Given the description of an element on the screen output the (x, y) to click on. 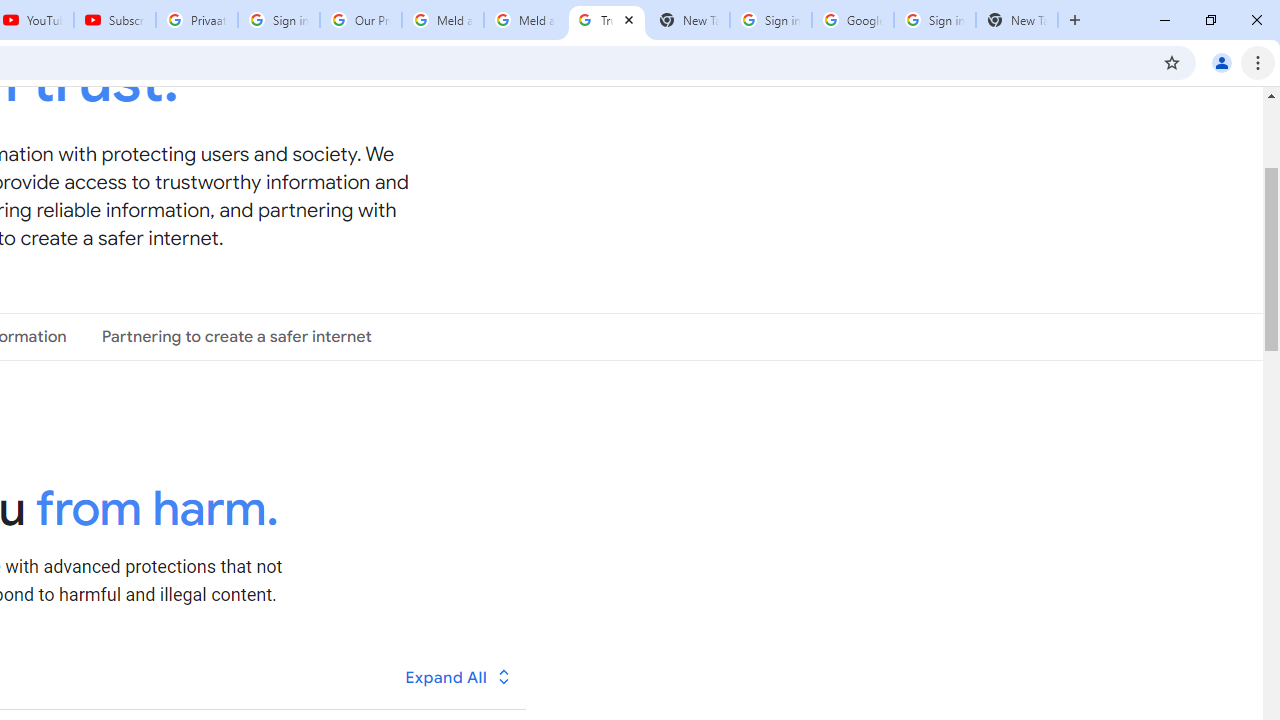
Sign in - Google Accounts (770, 20)
New Tab (1016, 20)
